Given the description of an element on the screen output the (x, y) to click on. 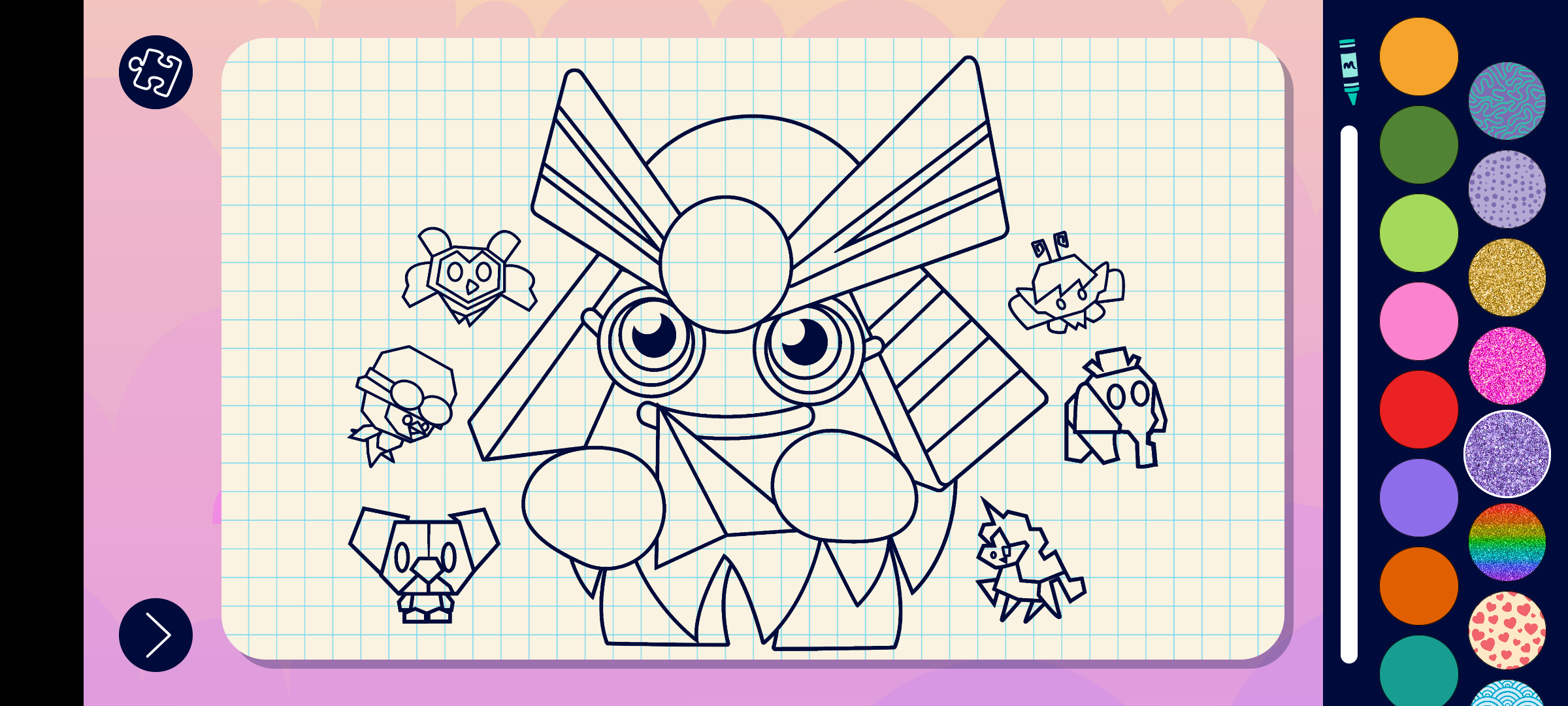
coloring background (1507, 101)
coloring background (1507, 189)
coloring background (1507, 277)
coloring background (1507, 365)
coloring background (1506, 454)
coloring background (1507, 542)
coloring background (1507, 630)
